Given the description of an element on the screen output the (x, y) to click on. 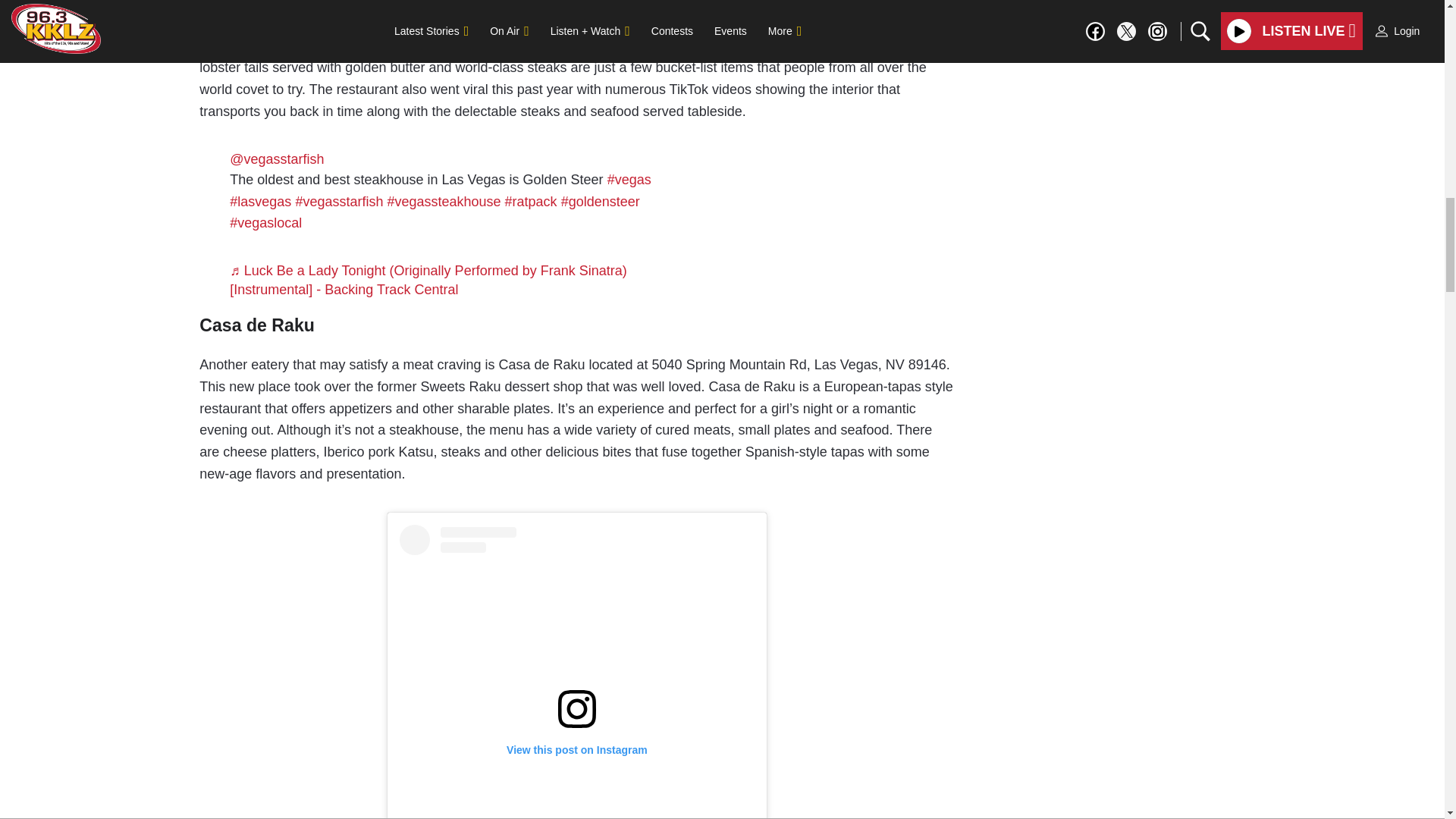
ratpack (531, 201)
vegas (628, 179)
vegaslocal (265, 222)
vegasstarfish (338, 201)
vegassteakhouse (443, 201)
goldensteer (600, 201)
lasvegas (260, 201)
